Given the description of an element on the screen output the (x, y) to click on. 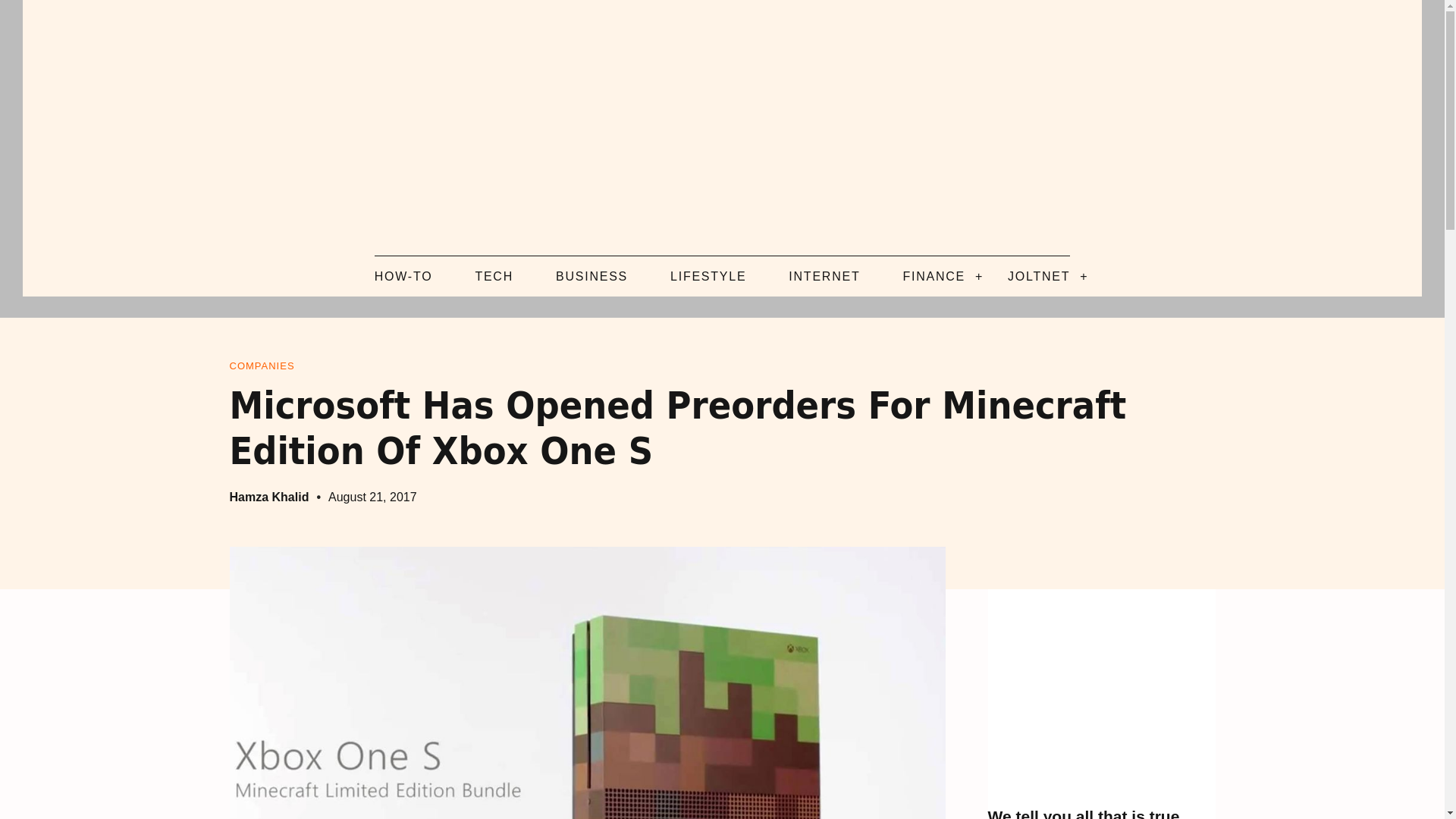
INTERNET (824, 276)
BUSINESS (591, 276)
JOLTNET (1038, 276)
Companies (261, 366)
HOW-TO (403, 276)
FINANCE (933, 276)
LIFESTYLE (707, 276)
Hamza Khalid (268, 496)
TECH (493, 276)
COMPANIES (261, 366)
